Given the description of an element on the screen output the (x, y) to click on. 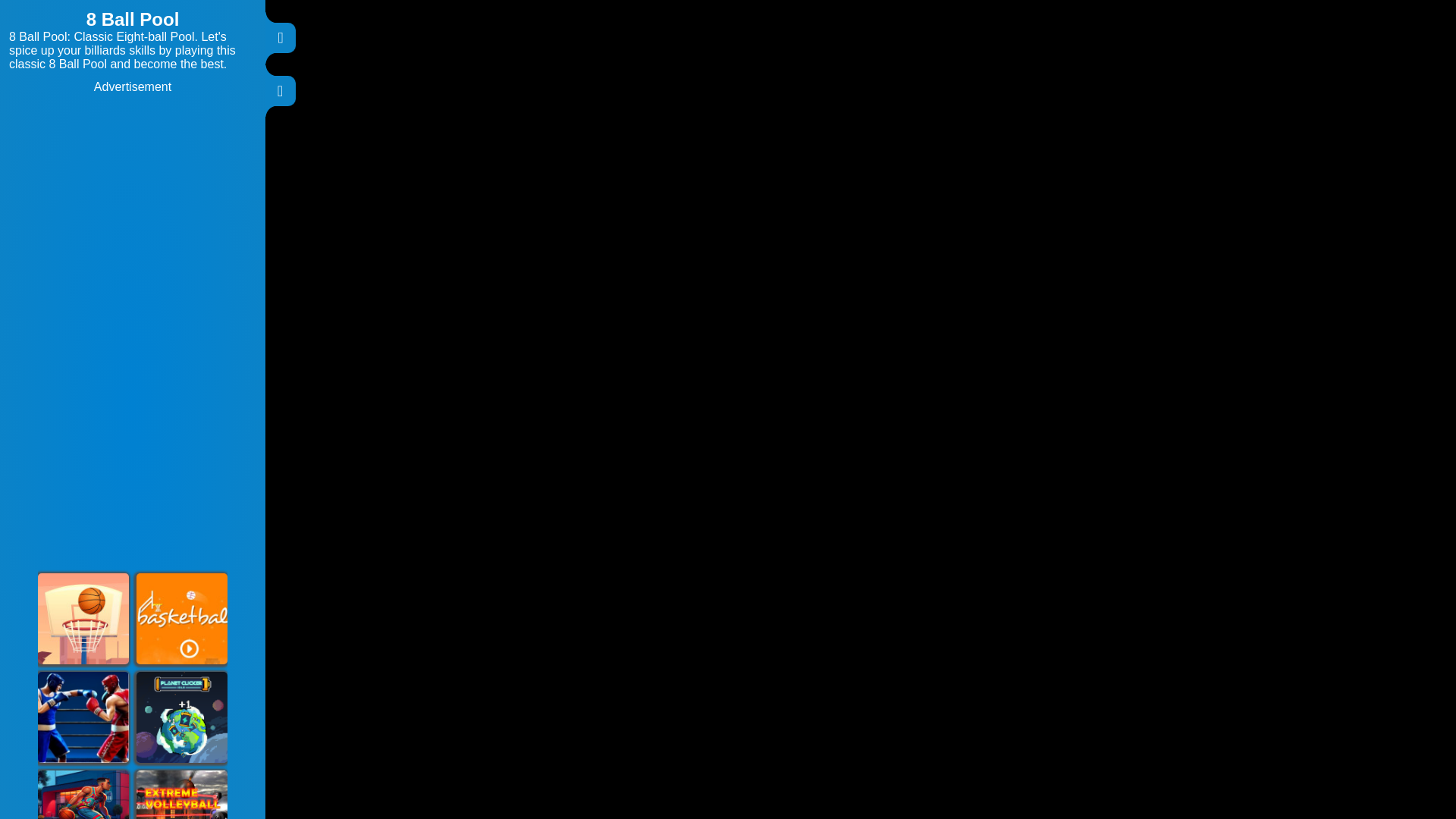
Swipe The Ball (83, 618)
Planet Clicker Idle (181, 716)
Punchers (83, 716)
Super Basketball (181, 618)
